Given the description of an element on the screen output the (x, y) to click on. 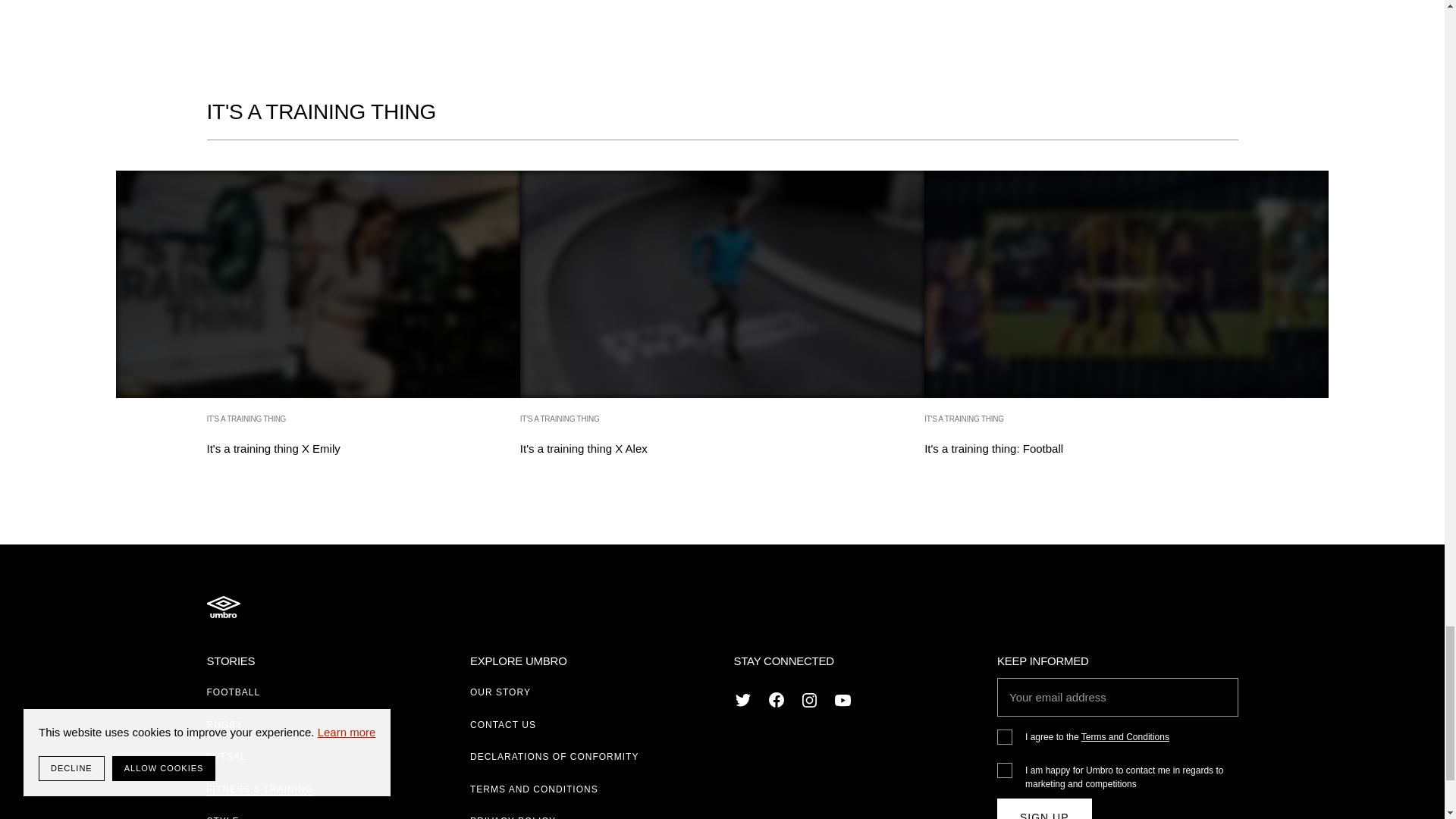
SIGN UP (1044, 808)
true (721, 325)
Umbro (317, 325)
Facebook (1125, 325)
Instagram (223, 606)
